Given the description of an element on the screen output the (x, y) to click on. 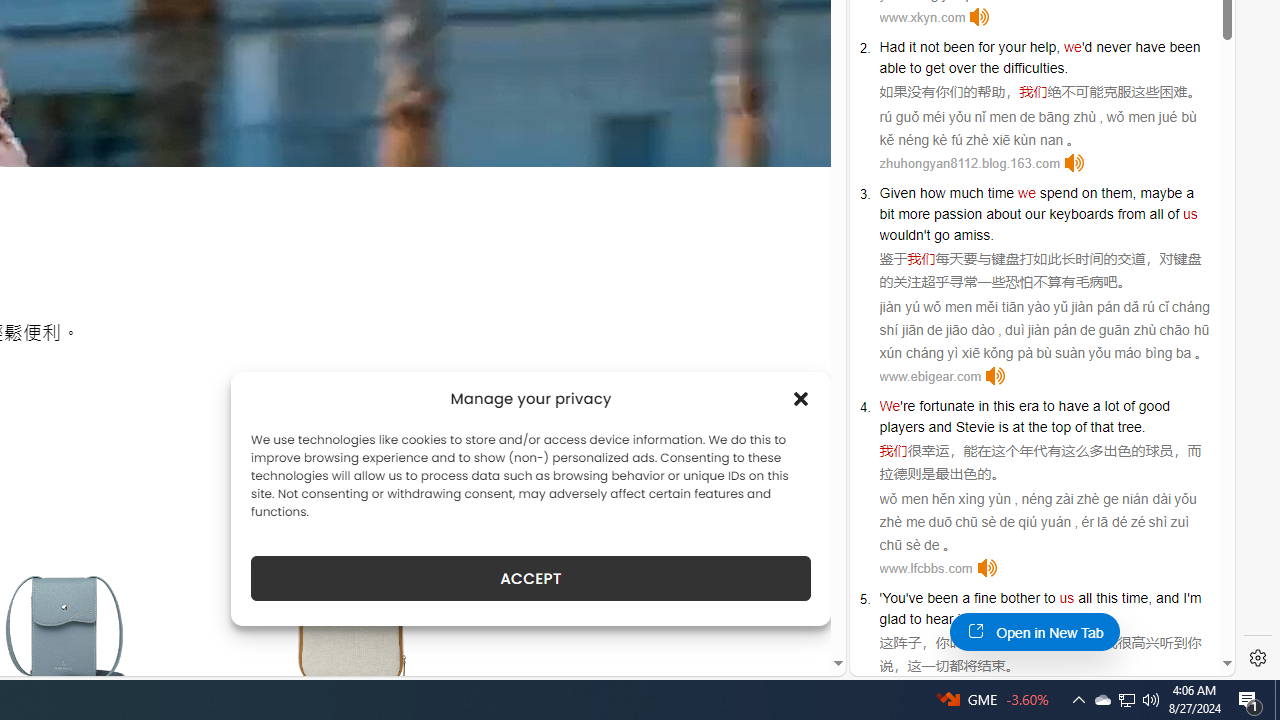
fortunate (947, 405)
glad (892, 619)
I (1184, 597)
www.lfcbbs.com (925, 568)
You (893, 597)
hear (939, 619)
